Given the description of an element on the screen output the (x, y) to click on. 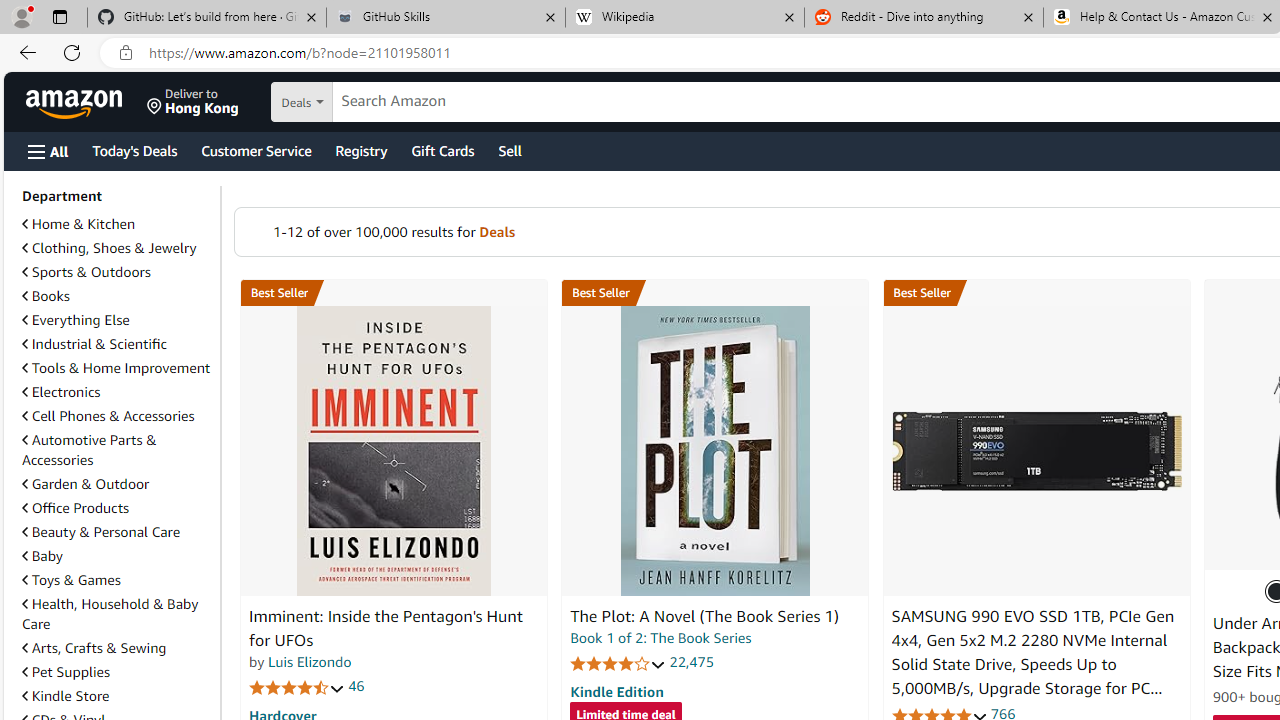
Garden & Outdoor (85, 484)
GitHub Skills (445, 17)
Sports & Outdoors (117, 272)
Industrial & Scientific (94, 343)
Cell Phones & Accessories (117, 416)
Everything Else (117, 319)
22,475 (691, 662)
4.2 out of 5 stars (617, 663)
Automotive Parts & Accessories (117, 449)
Automotive Parts & Accessories (89, 449)
Office Products (75, 507)
Home & Kitchen (78, 224)
Arts, Crafts & Sewing (93, 647)
Imminent: Inside the Pentagon's Hunt for UFOs (393, 451)
